Given the description of an element on the screen output the (x, y) to click on. 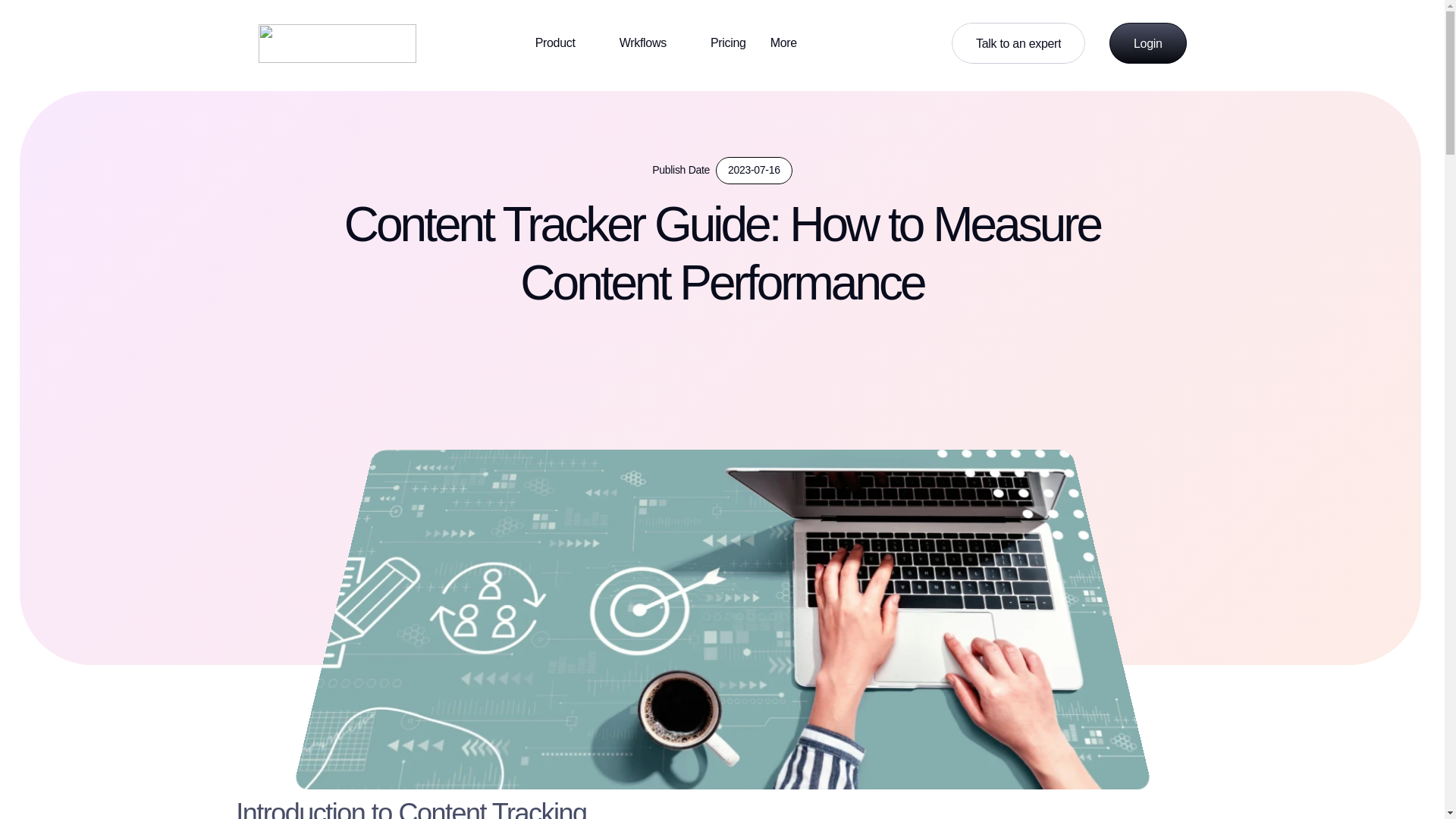
Wrkflows (1018, 42)
Pricing (652, 42)
More (727, 42)
Product (793, 42)
